Given the description of an element on the screen output the (x, y) to click on. 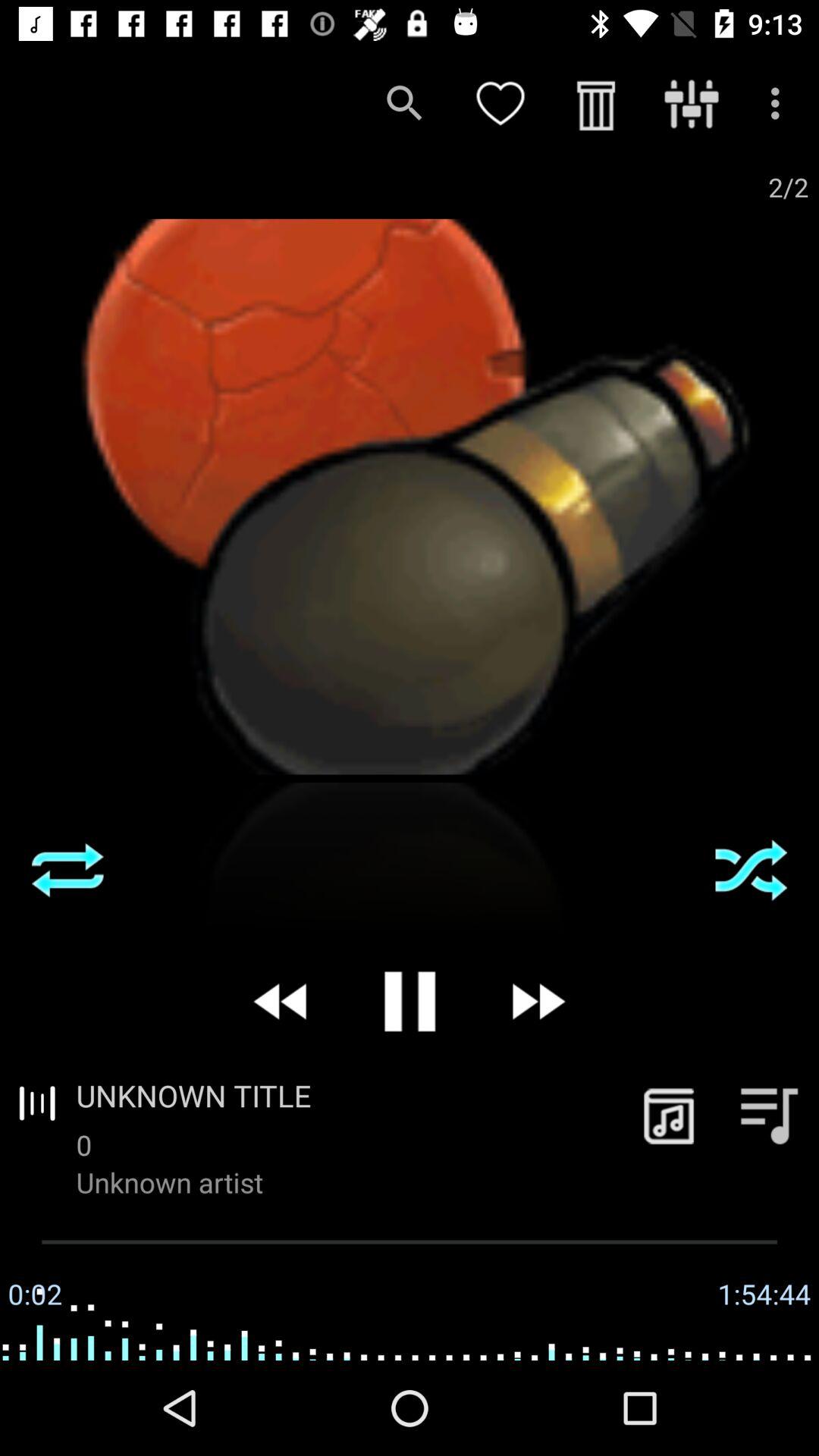
shuffle (751, 869)
